Given the description of an element on the screen output the (x, y) to click on. 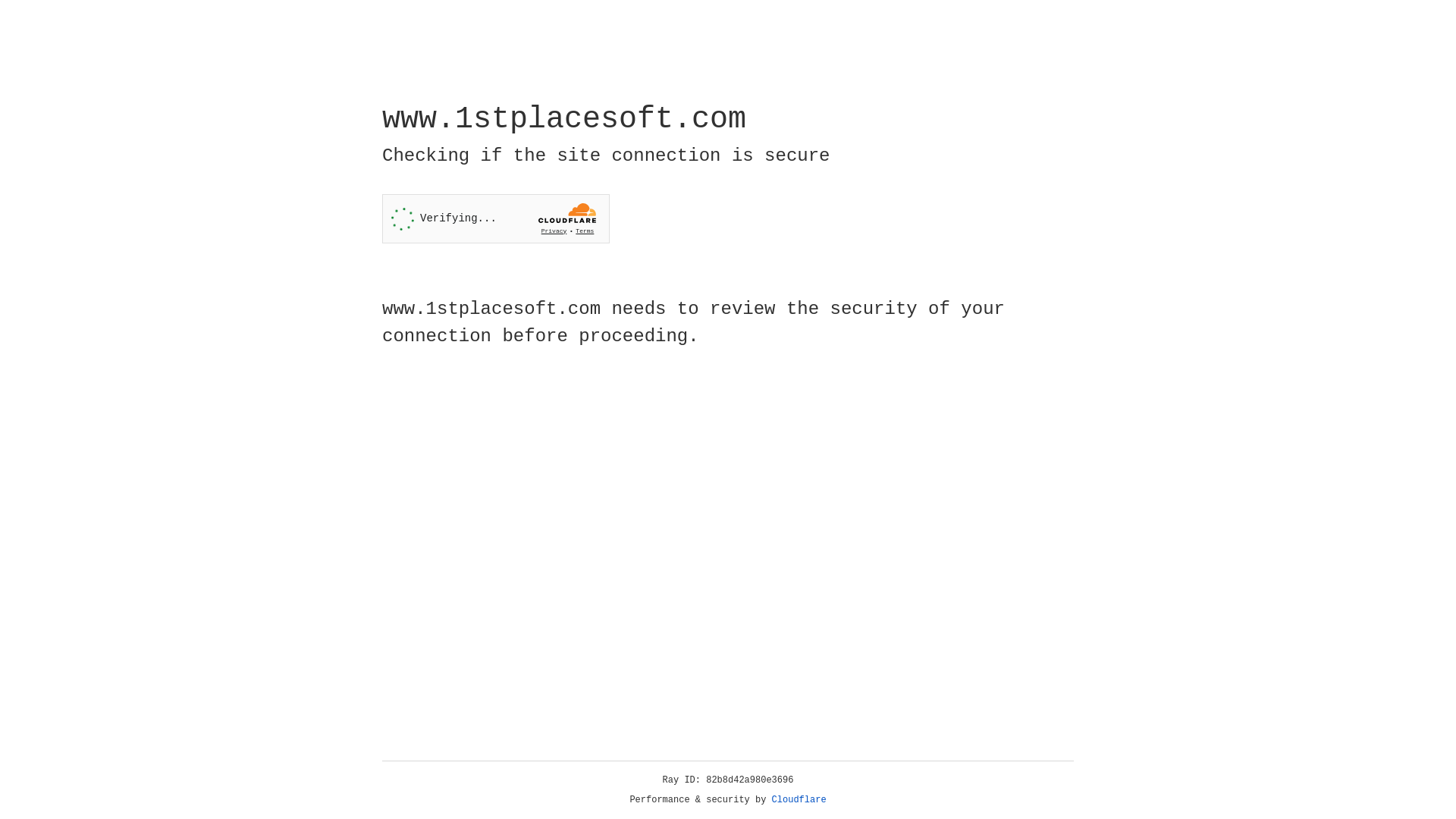
Widget containing a Cloudflare security challenge Element type: hover (495, 218)
Cloudflare Element type: text (798, 799)
